Given the description of an element on the screen output the (x, y) to click on. 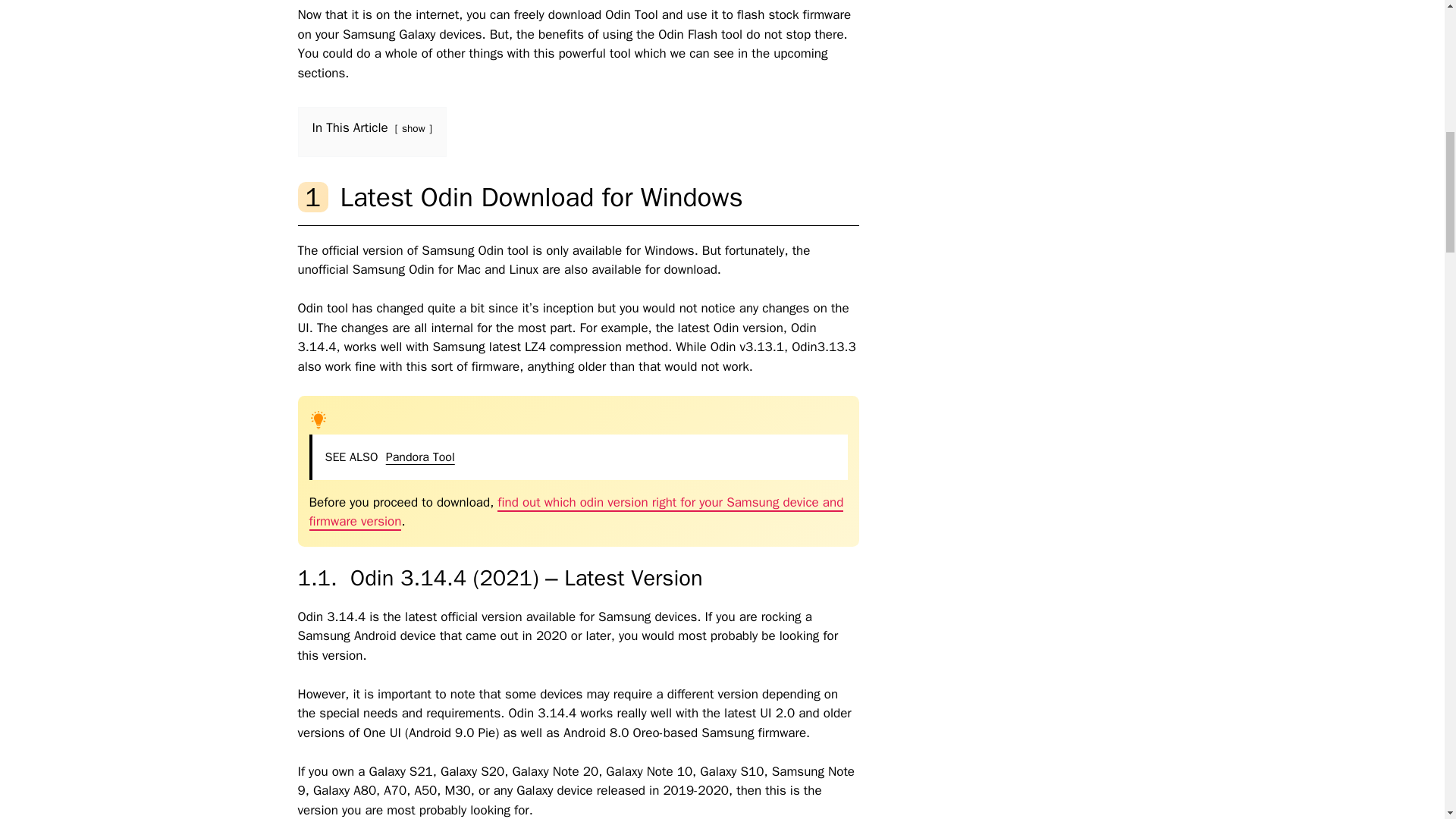
SEE ALSO  Pandora Tool (577, 456)
show (413, 128)
